Given the description of an element on the screen output the (x, y) to click on. 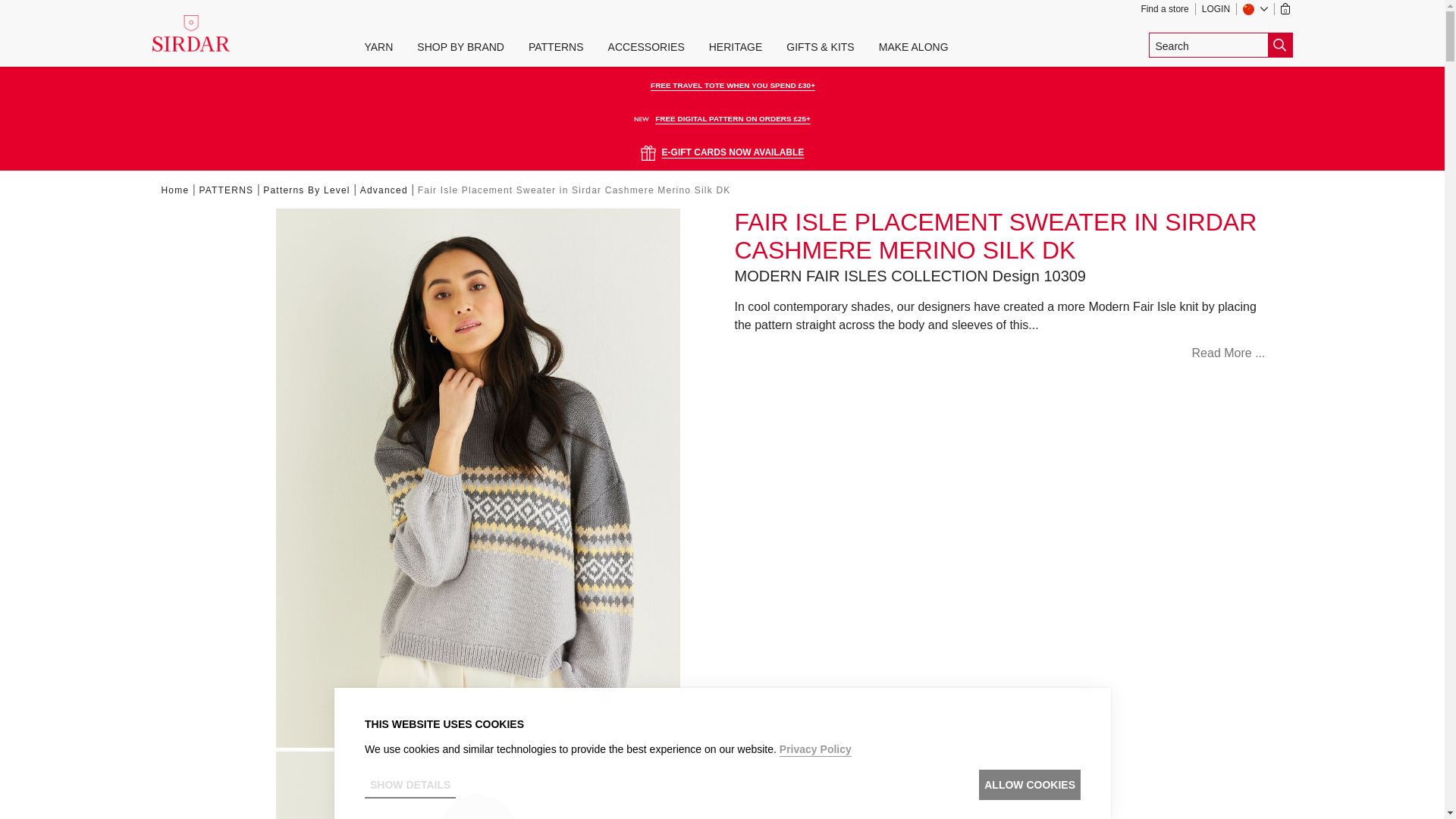
ALLOW COOKIES (1029, 784)
0 (1288, 9)
Privacy Policy (814, 748)
SHOP BY BRAND (459, 47)
SHOW DETAILS (409, 784)
Find a store (1167, 9)
LOGIN (1219, 9)
